Given the description of an element on the screen output the (x, y) to click on. 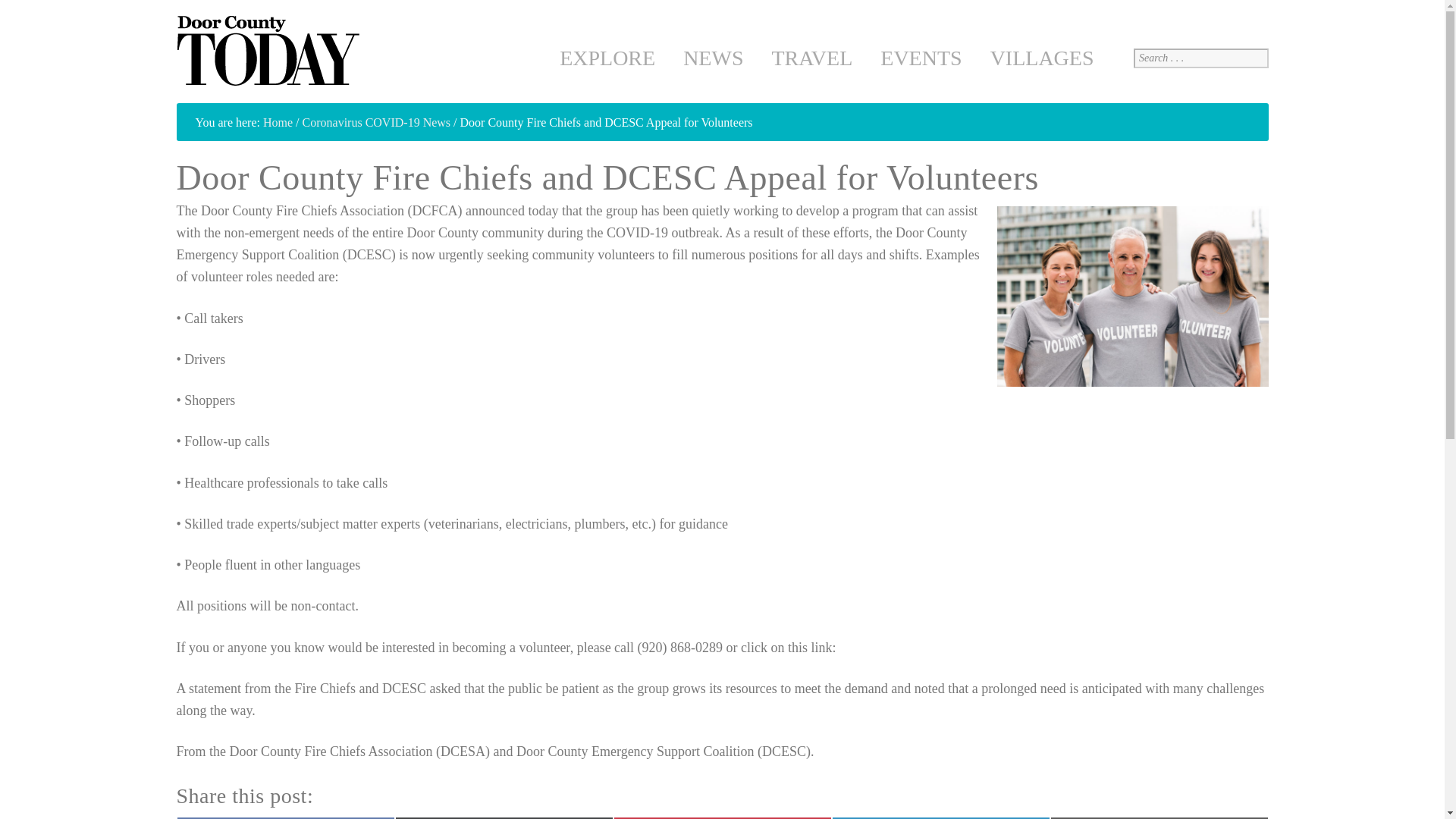
Share on Facebook (285, 817)
EXPLORE (607, 58)
Door County Today (270, 51)
Share on Pinterest (721, 817)
TRAVEL (811, 58)
Share on LinkedIn (940, 817)
VILLAGES (1041, 58)
Home (277, 122)
NEWS (712, 58)
Search (20, 7)
EVENTS (920, 58)
Coronavirus COVID-19 News (376, 122)
Share on Email (1158, 817)
